Given the description of an element on the screen output the (x, y) to click on. 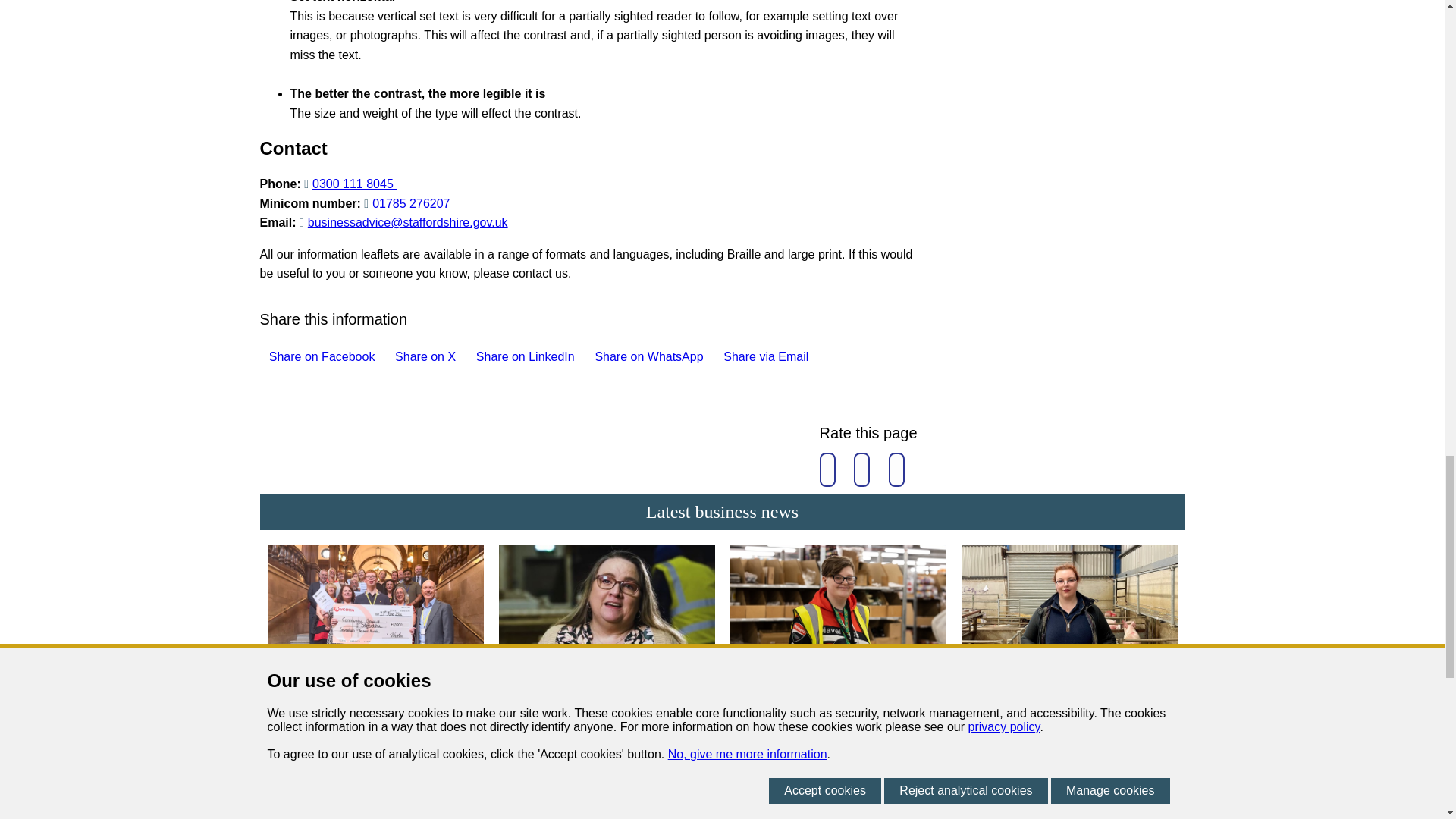
 Share on LinkedIn (521, 356)
Share on LinkedIn (471, 356)
 Share on Facebook (316, 356)
Share this page on Facebook (263, 356)
 Share via Email (761, 356)
 Share on WhatsApp (644, 356)
 Share on X (420, 356)
0300 111 8045  (350, 183)
01785 276207 (406, 203)
Share on X (389, 356)
